Given the description of an element on the screen output the (x, y) to click on. 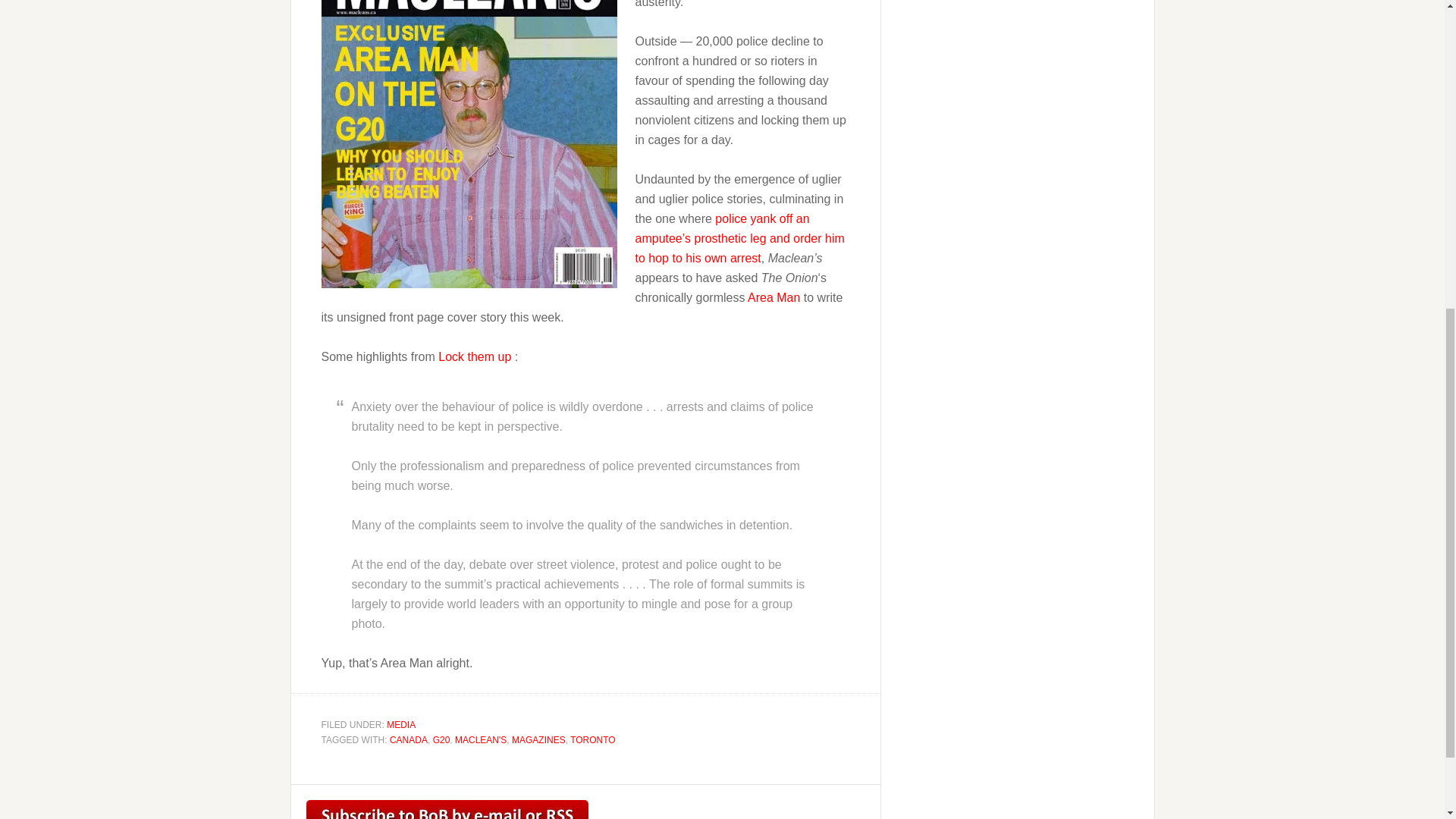
MAGAZINES (539, 739)
TORONTO (592, 739)
Lock them up (476, 356)
MEDIA (400, 724)
MACLEAN'S (480, 739)
Area Man (773, 297)
CANADA (409, 739)
G20 (440, 739)
